Given the description of an element on the screen output the (x, y) to click on. 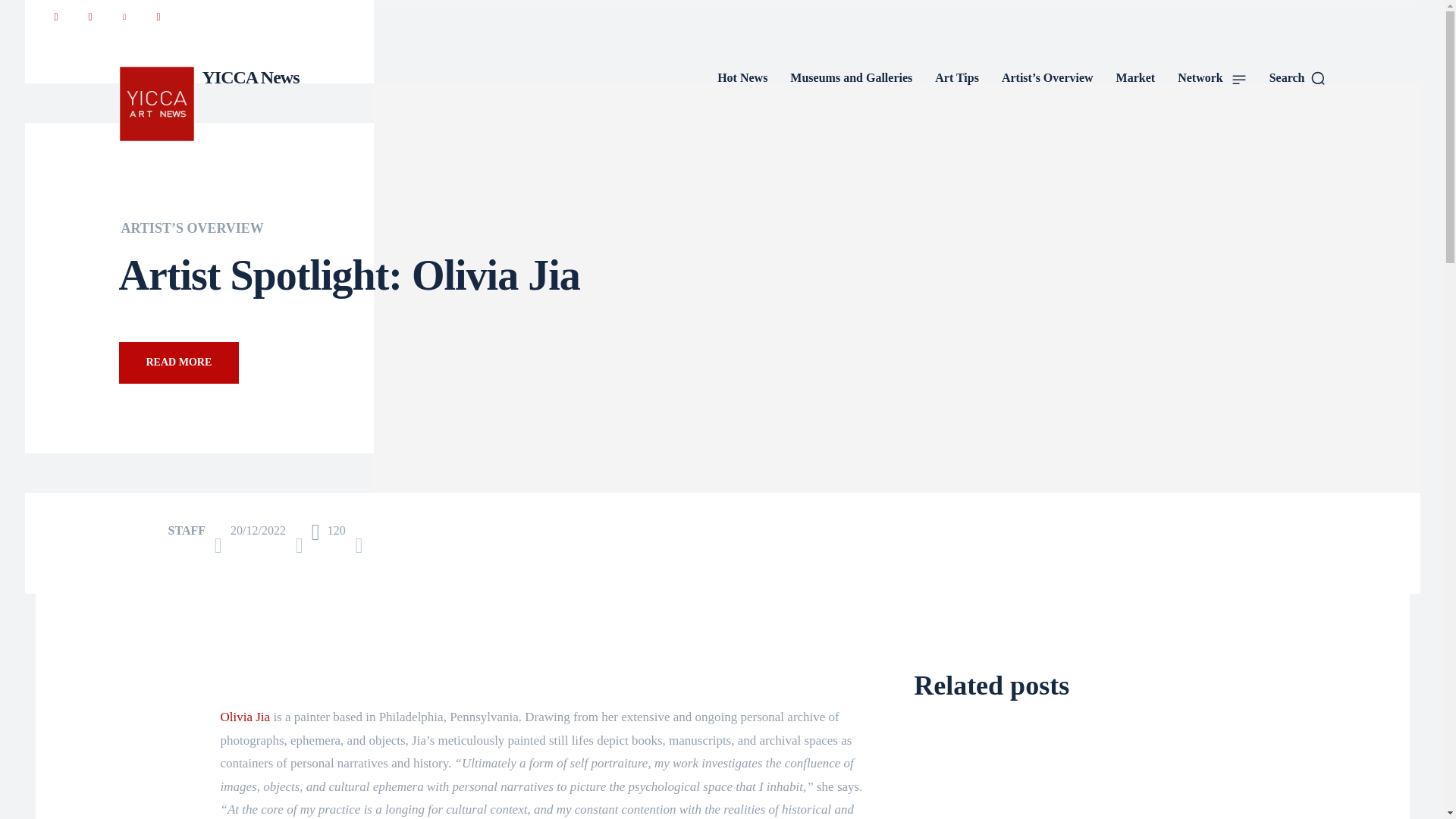
Facebook (55, 17)
Twitter (158, 17)
Museums and Galleries (850, 77)
Linkedin (123, 17)
YICCA News (207, 103)
Instagram (90, 17)
Hot News (742, 77)
